Given the description of an element on the screen output the (x, y) to click on. 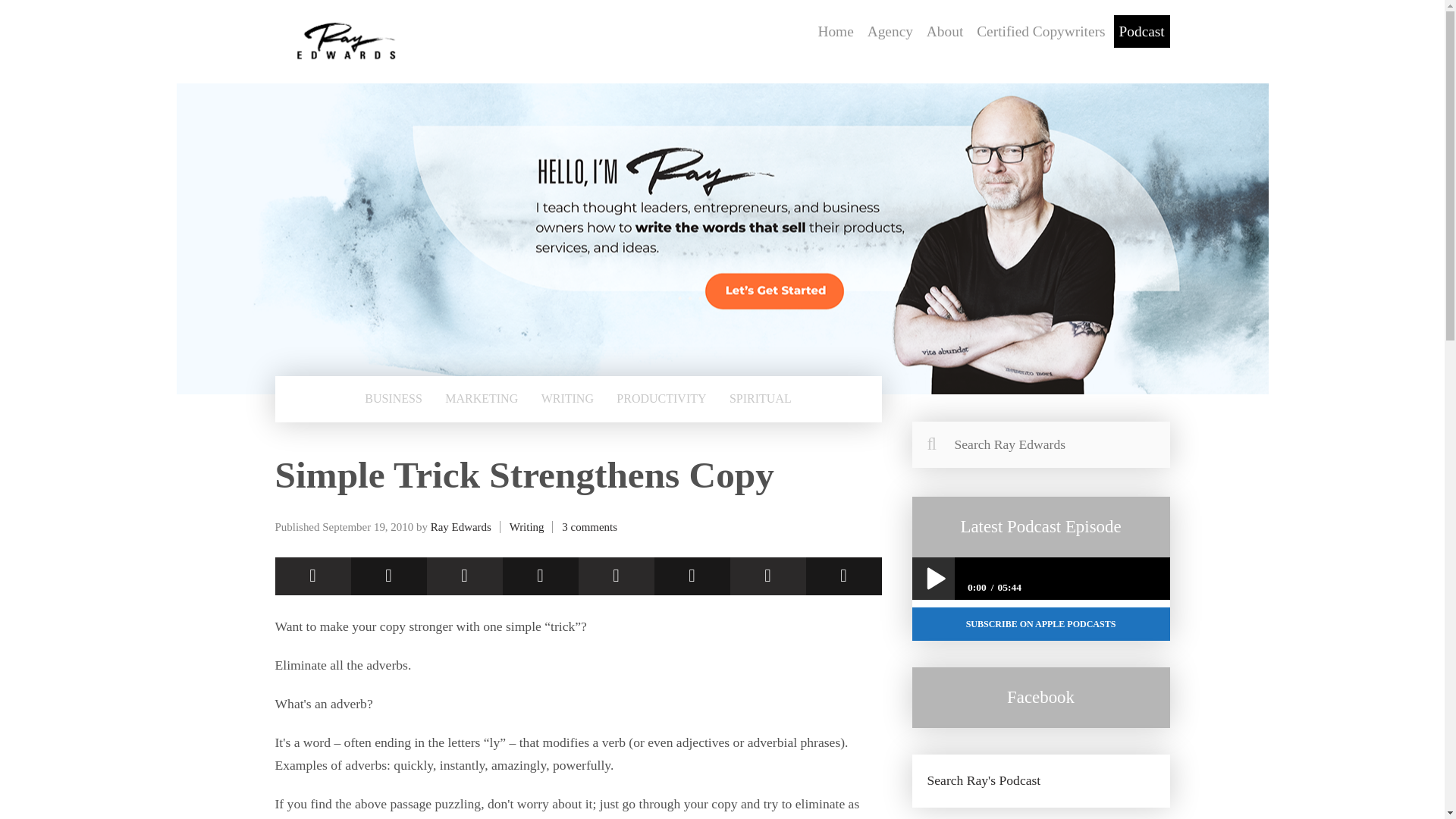
About (944, 31)
Certified Copywriters (1040, 31)
Home (835, 31)
Writing (526, 526)
SPIRITUAL (760, 398)
WRITING (567, 398)
Agency (889, 31)
3 comments (589, 526)
Podcast (1141, 31)
BUSINESS (392, 398)
PRODUCTIVITY (660, 398)
MARKETING (480, 398)
Ray Edwards (461, 526)
Search for: (1040, 444)
